Given the description of an element on the screen output the (x, y) to click on. 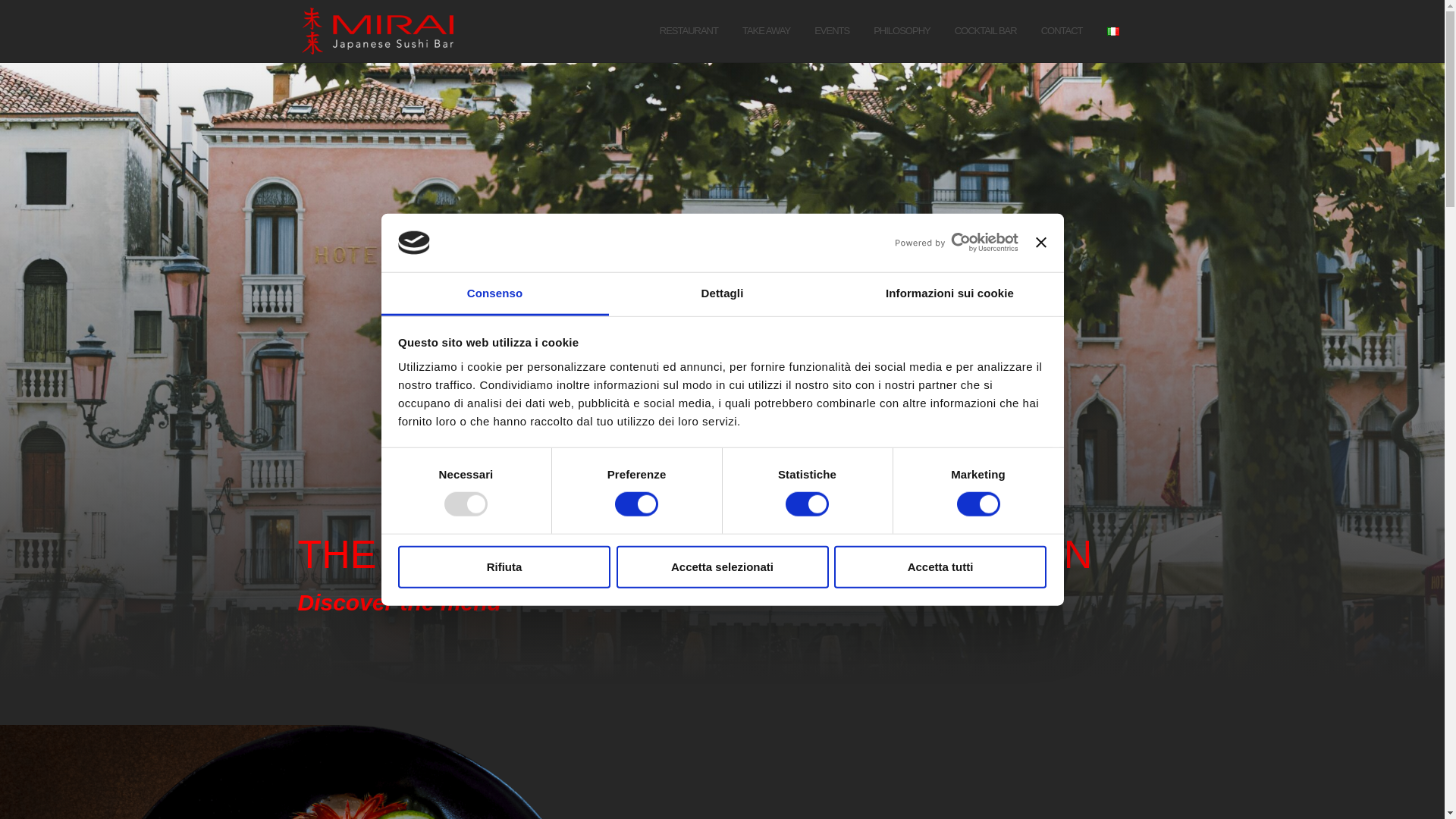
TAKE AWAY (766, 31)
COCKTAIL BAR (985, 31)
Consenso (494, 294)
EVENTS (830, 31)
PHILOSOPHY (901, 31)
EVENTS (830, 31)
Informazioni sui cookie (948, 294)
RESTAURANT (688, 31)
Discover the menu (398, 602)
Rifiuta (503, 566)
TAKE AWAY (766, 31)
PHILOSOPHY (901, 31)
RESTAURANT (688, 31)
Dettagli (721, 294)
Accetta tutti (940, 566)
